Given the description of an element on the screen output the (x, y) to click on. 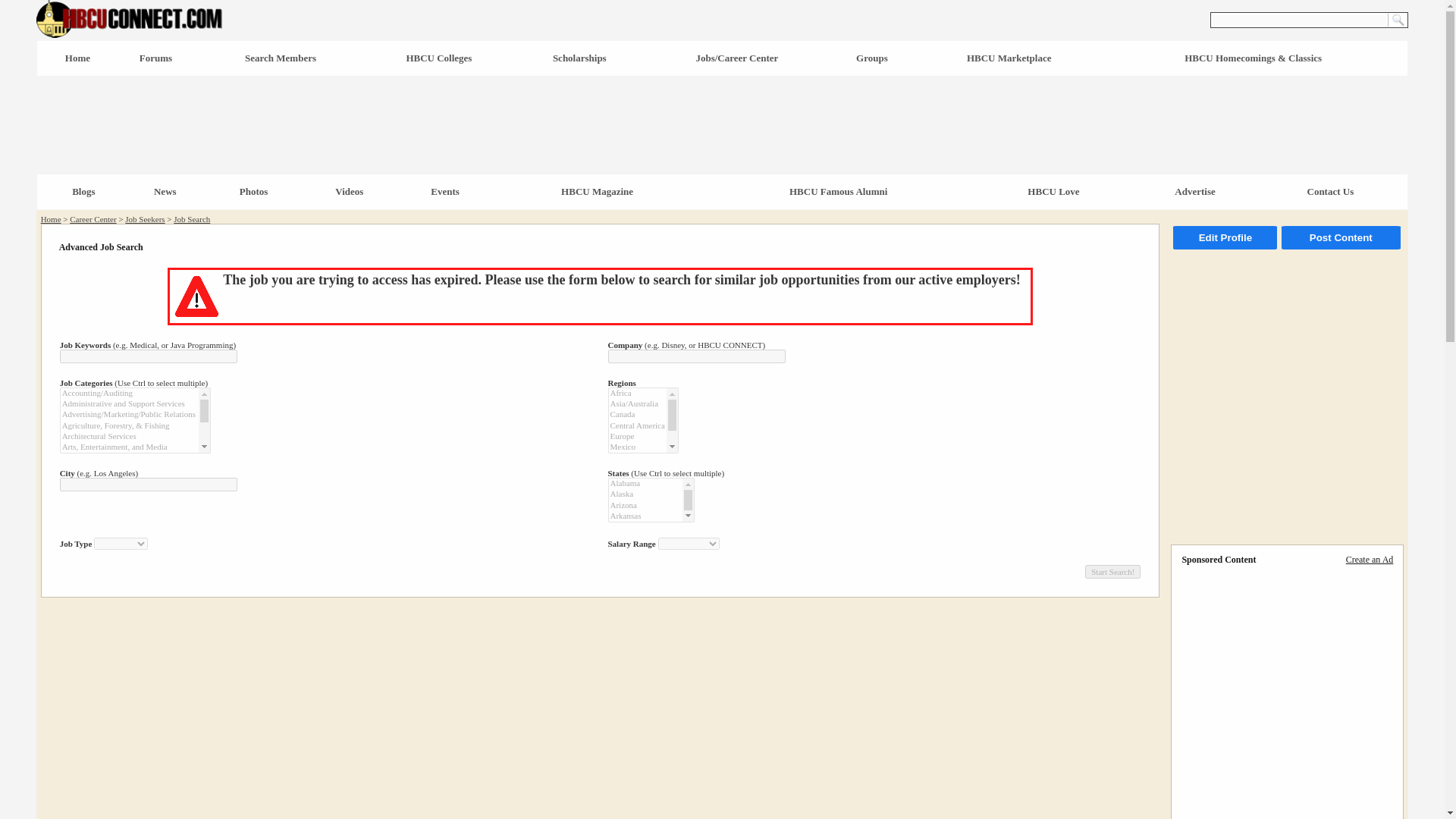
Blogs (82, 191)
HBCU Famous Alumni (837, 191)
Events (445, 191)
Contact Us (1330, 191)
HBCU Love (1052, 191)
News (165, 191)
Groups (872, 57)
Home (77, 57)
Advertise (1194, 191)
Start Search! (1112, 571)
Create an Ad (1369, 559)
Start Search! (1112, 571)
Search Members (279, 57)
Home (50, 218)
Search Website (1396, 20)
